Given the description of an element on the screen output the (x, y) to click on. 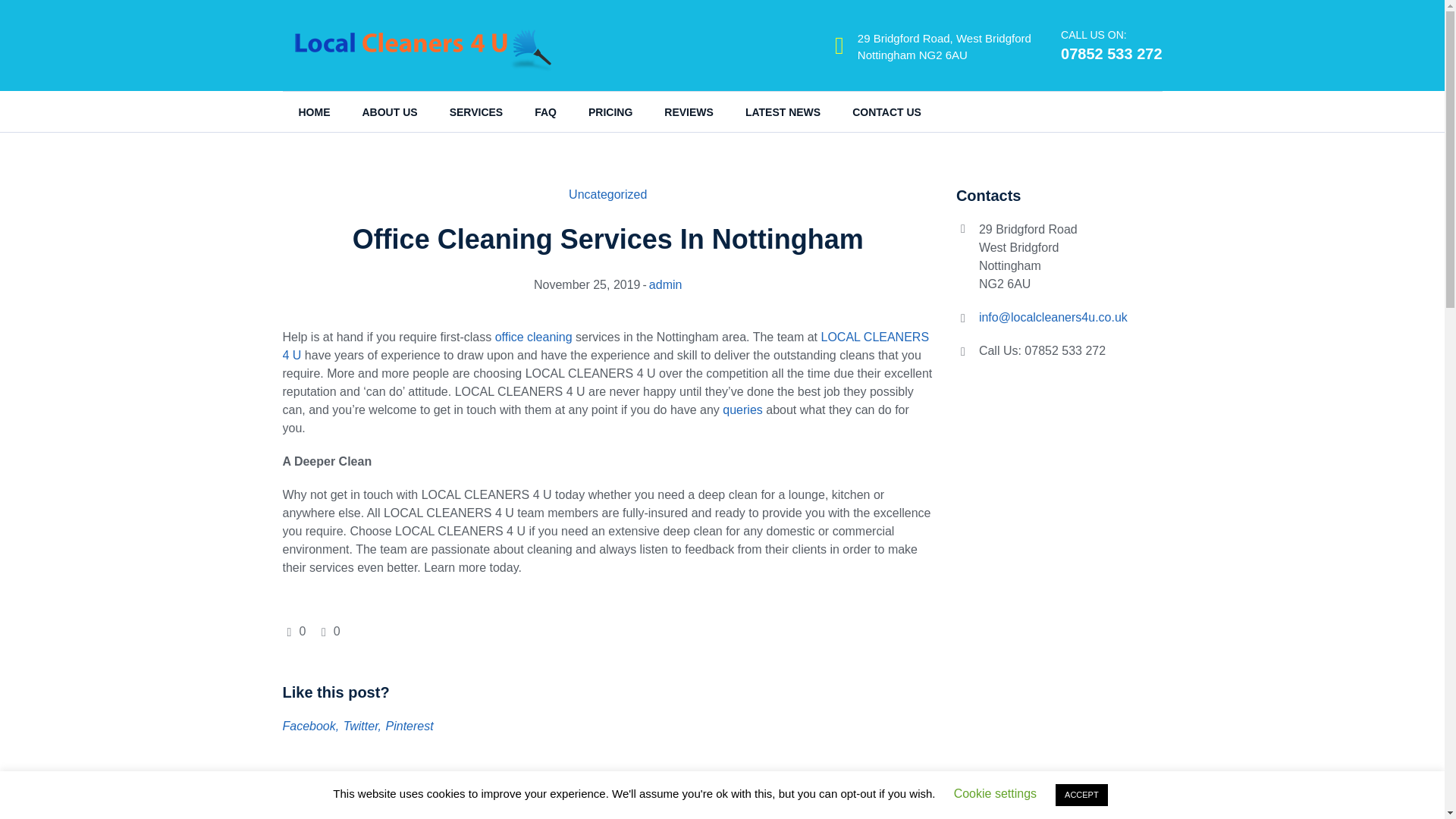
CONTACT US (886, 111)
PRICING (609, 111)
FAQ (545, 111)
LOCAL CLEANERS 4 U (605, 345)
office cleaning (533, 336)
07852 533 272 (1111, 53)
SERVICES (476, 111)
Uncategorized (607, 194)
Cleaning Company In Nottingham (391, 815)
Pinterest (409, 725)
Posts by admin (665, 284)
REVIEWS (688, 111)
0 (328, 631)
0 (295, 631)
Comment on Office Cleaning Services In Nottingham (328, 631)
